Given the description of an element on the screen output the (x, y) to click on. 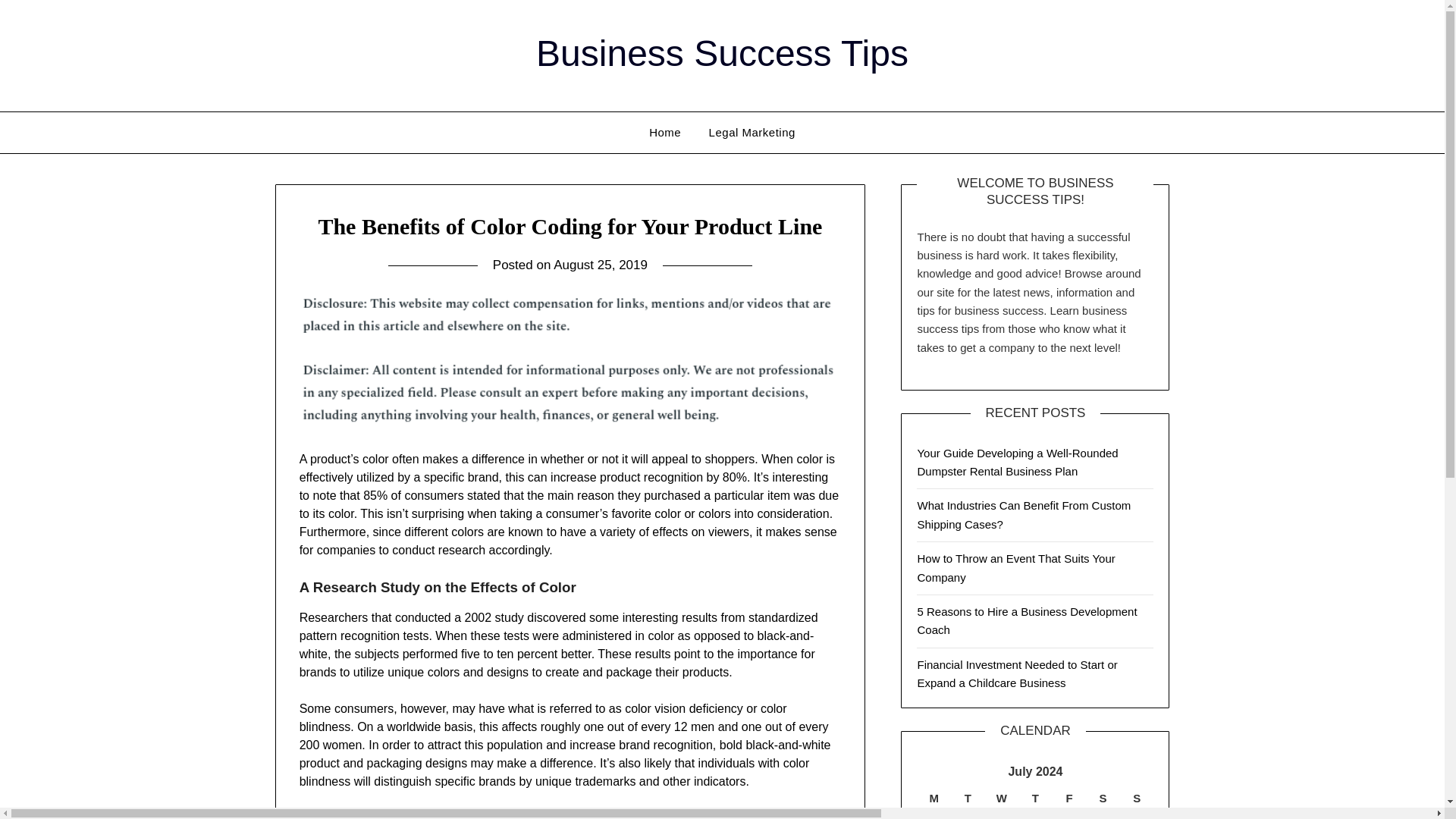
August 25, 2019 (600, 264)
What Industries Can Benefit From Custom Shipping Cases? (1024, 513)
Monday (933, 798)
Wednesday (1002, 798)
Sunday (1136, 798)
Legal Marketing (752, 132)
Friday (1069, 798)
How to Throw an Event That Suits Your Company (1016, 567)
Business Success Tips (721, 53)
5 Reasons to Hire a Business Development Coach (1027, 620)
Saturday (1102, 798)
